Given the description of an element on the screen output the (x, y) to click on. 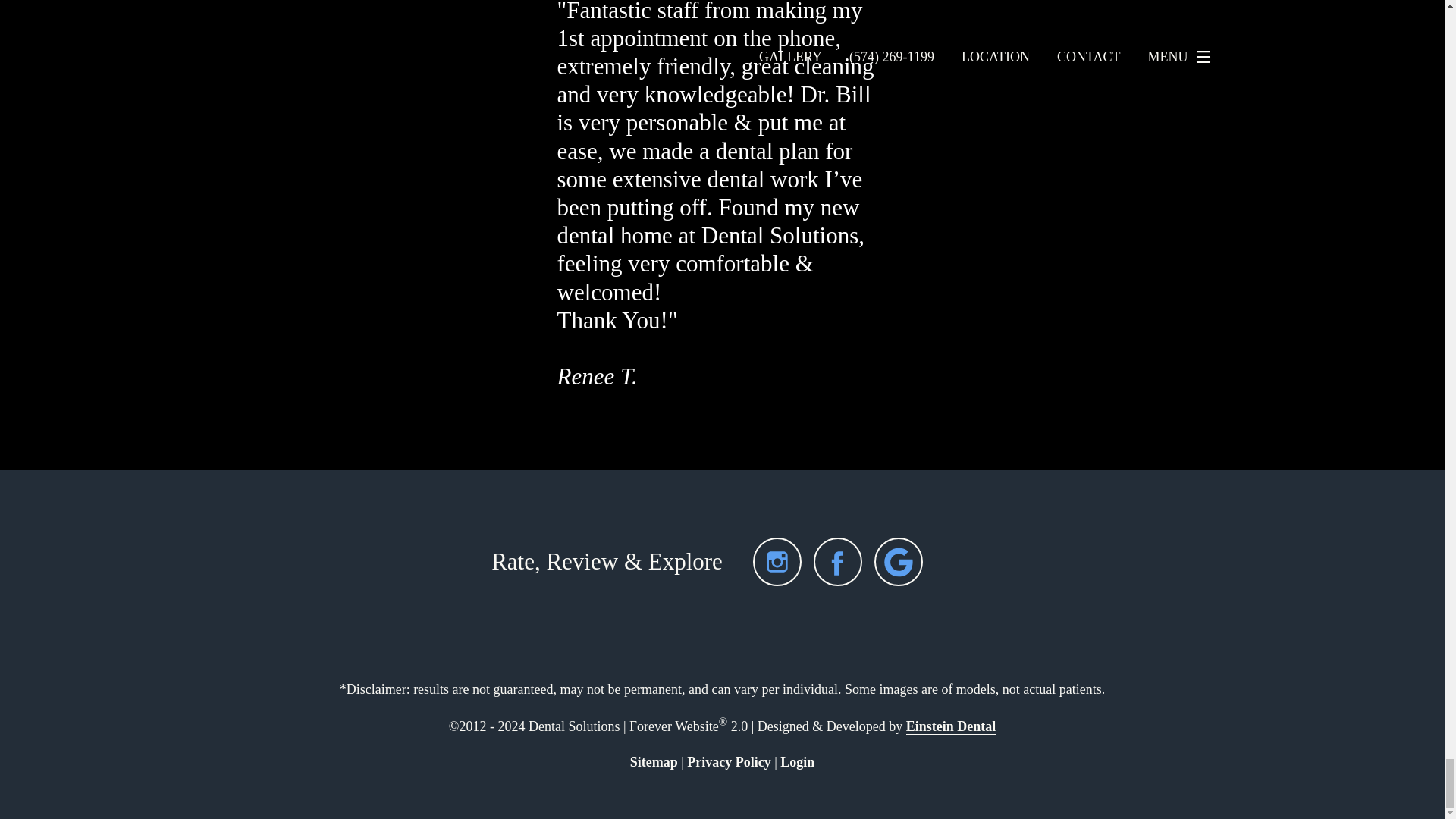
Instagram (777, 561)
Google (899, 561)
Facebook (837, 561)
